Given the description of an element on the screen output the (x, y) to click on. 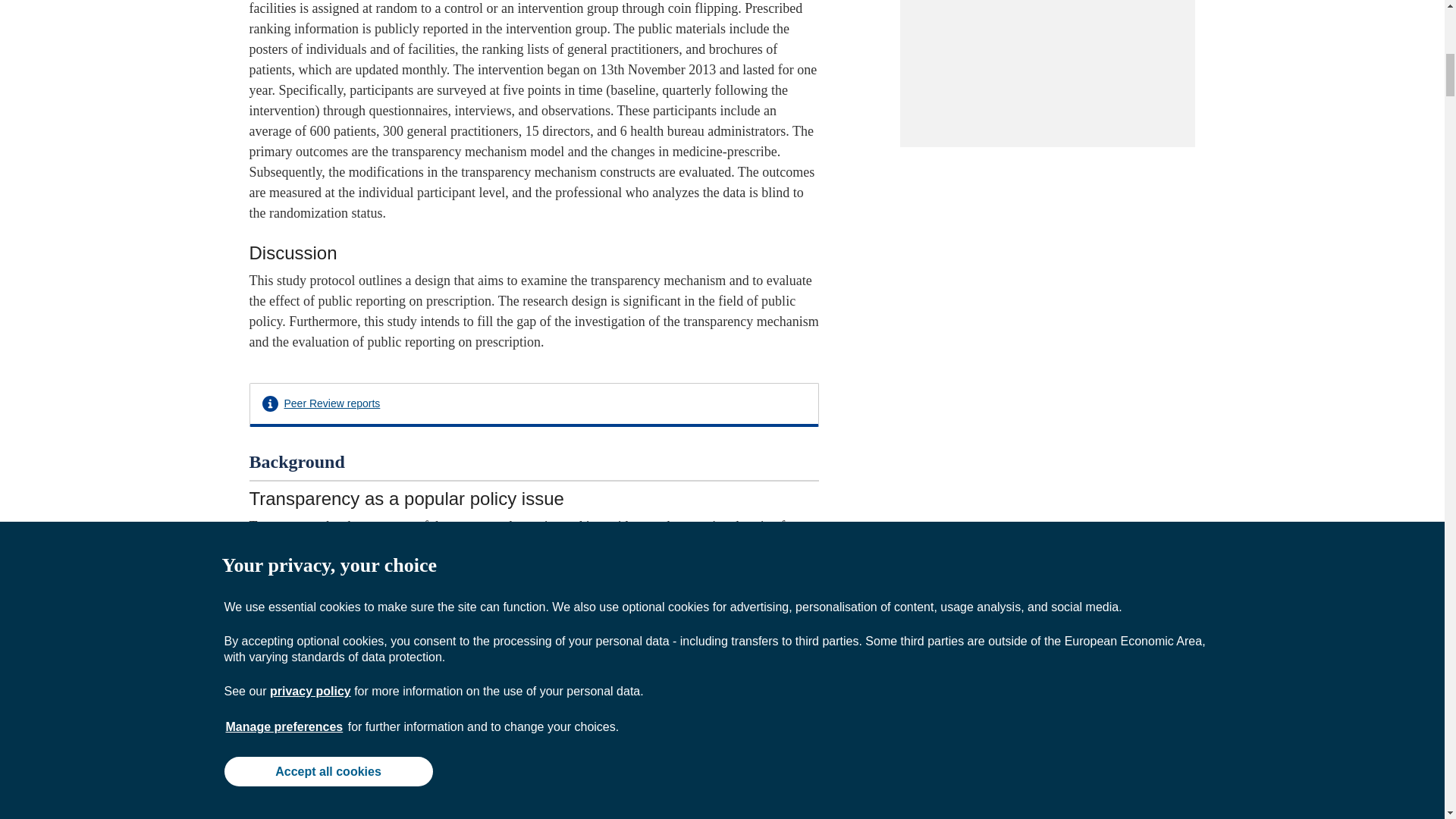
1 (369, 546)
2 (380, 546)
4 (740, 587)
3 (729, 587)
Peer Review reports (331, 403)
